Given the description of an element on the screen output the (x, y) to click on. 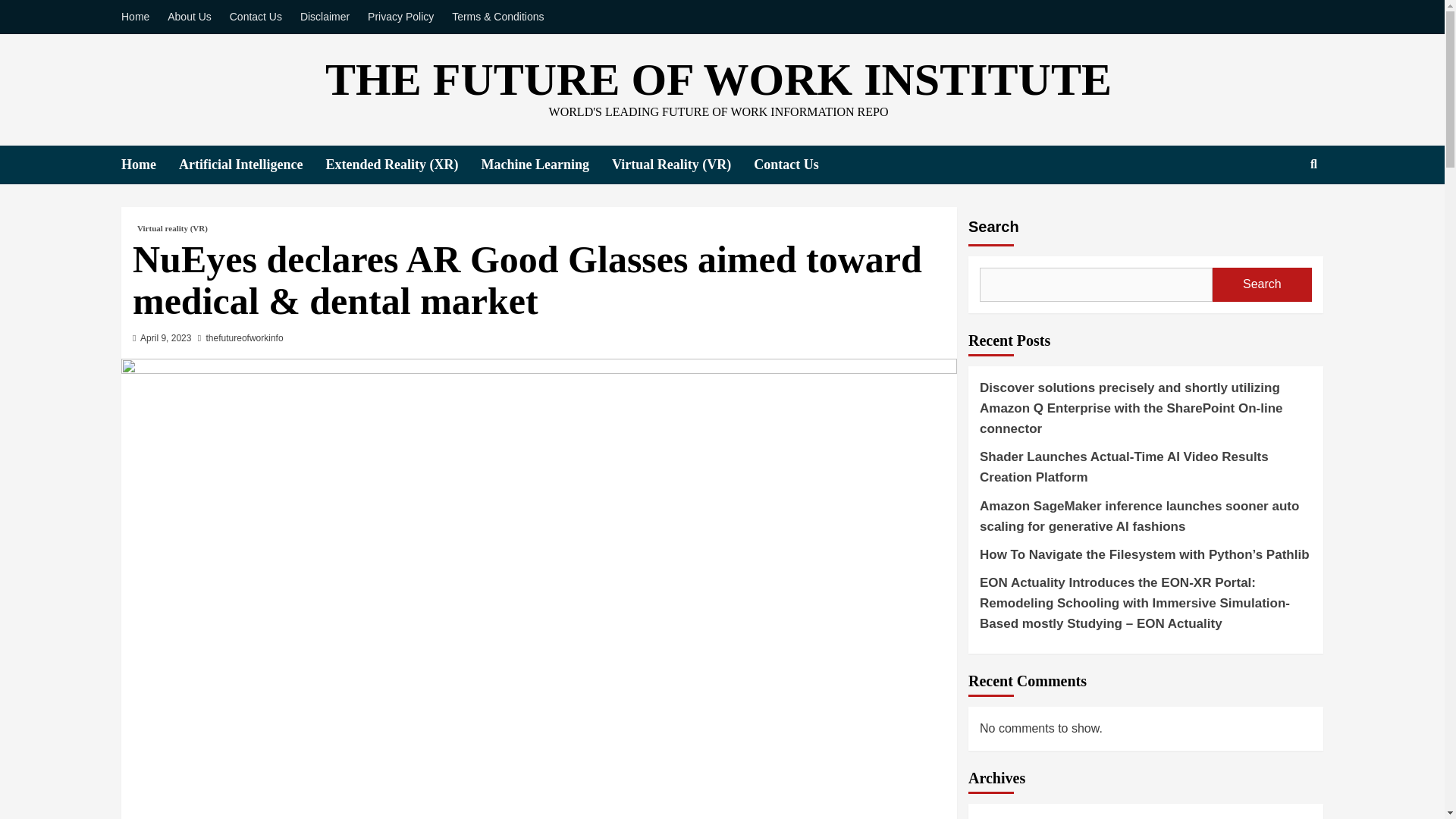
April 9, 2023 (164, 337)
THE FUTURE OF WORK INSTITUTE (718, 79)
Home (149, 164)
Search (1278, 212)
Contact Us (255, 17)
Machine Learning (545, 164)
Contact Us (797, 164)
Disclaimer (324, 17)
Artificial Intelligence (251, 164)
About Us (189, 17)
Privacy Policy (400, 17)
Home (138, 17)
thefutureofworkinfo (244, 337)
